Given the description of an element on the screen output the (x, y) to click on. 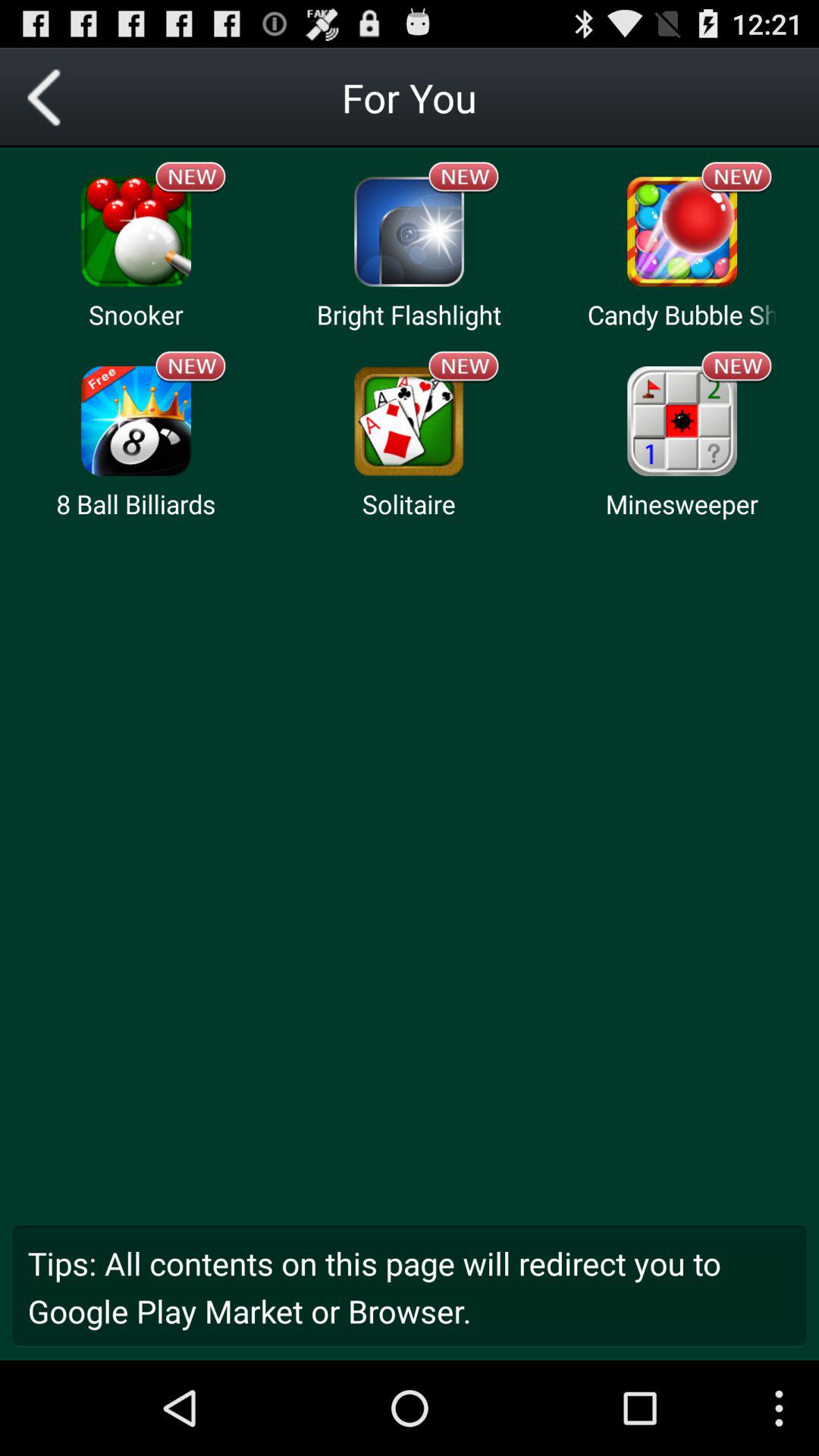
go back (49, 97)
